Given the description of an element on the screen output the (x, y) to click on. 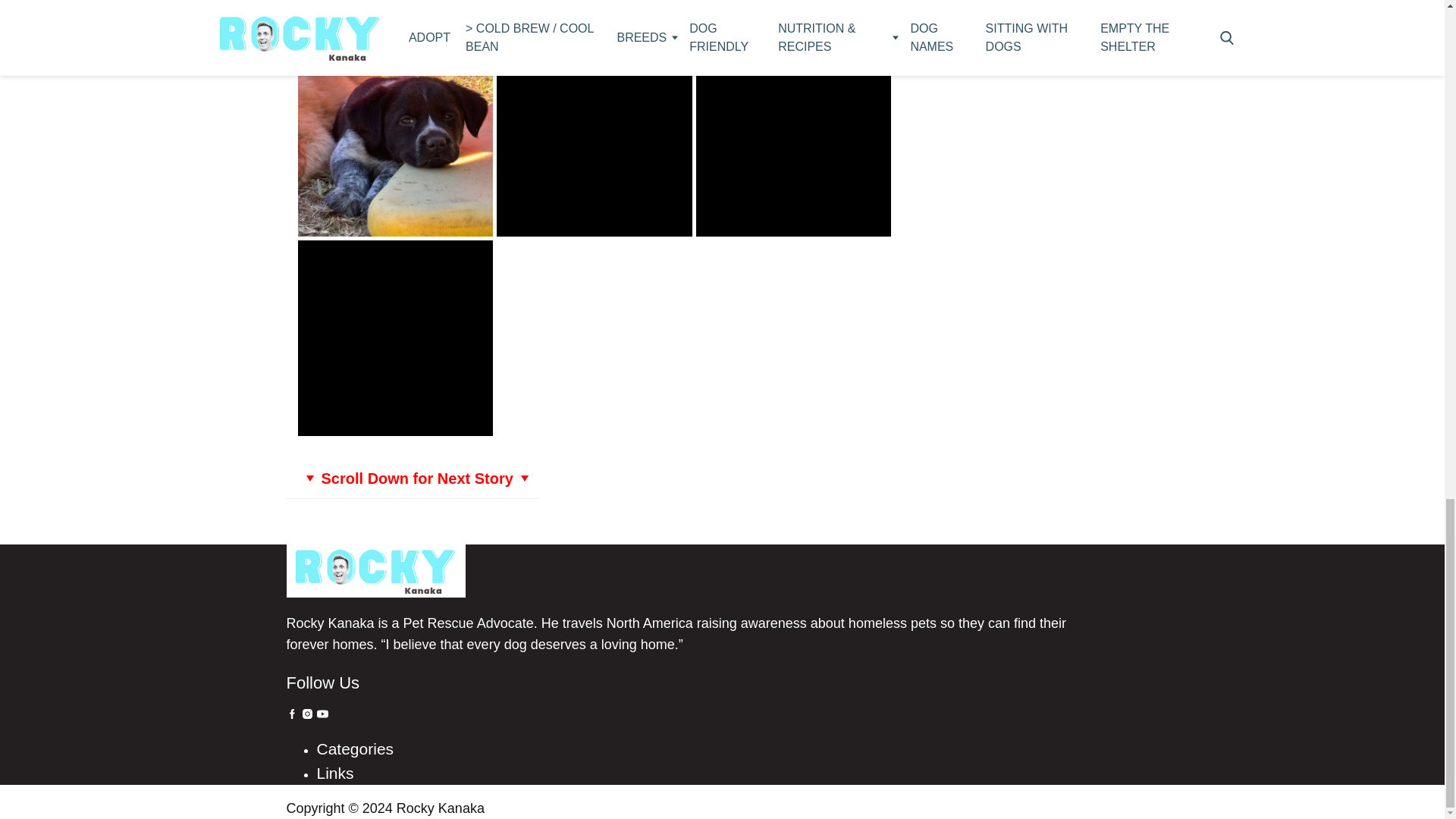
Instagram (307, 714)
Facebook (292, 714)
Youtube (323, 714)
Scroll Down for Next Story (413, 478)
